Given the description of an element on the screen output the (x, y) to click on. 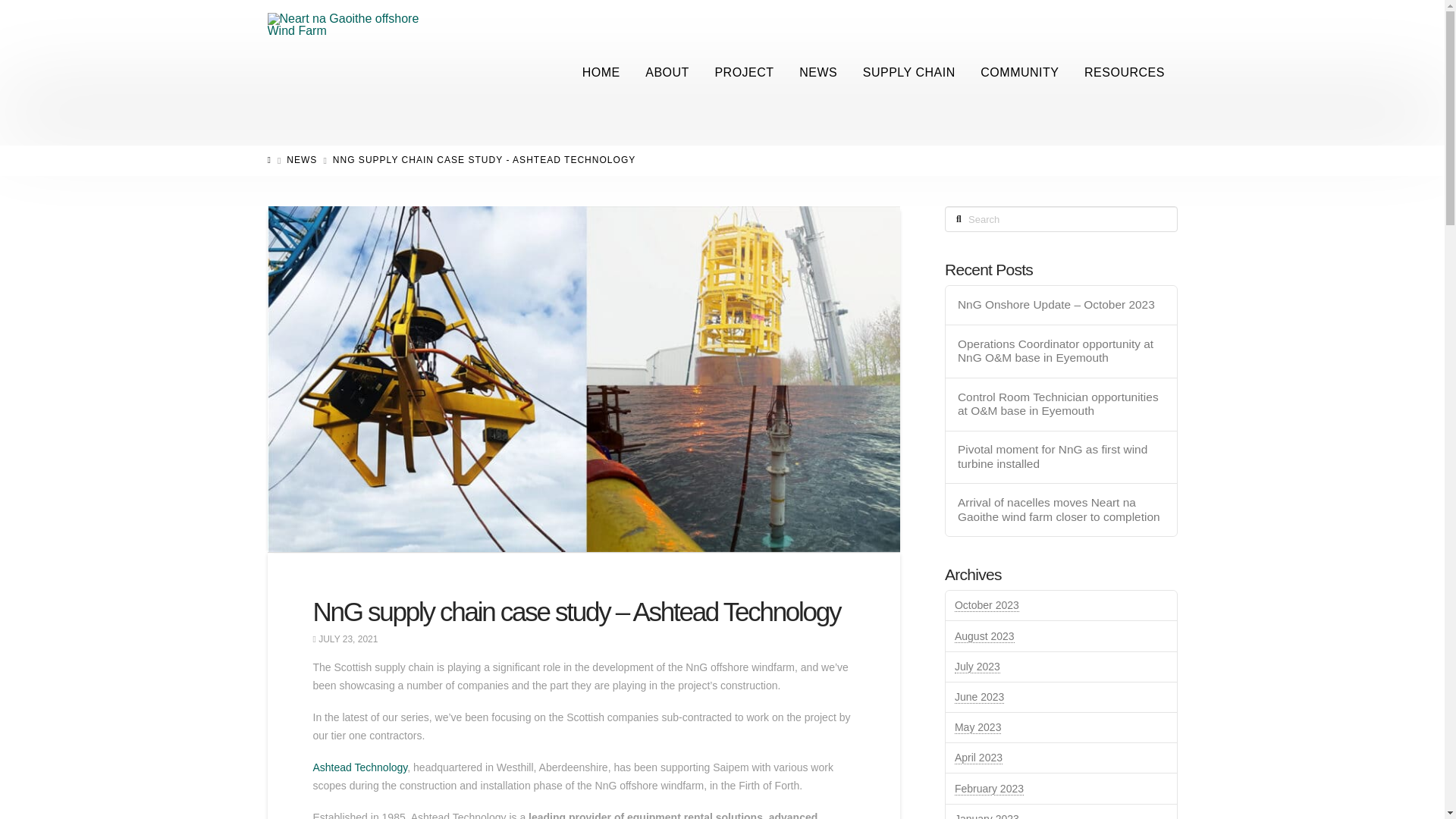
June 2023 (979, 697)
Pivotal moment for NnG as first wind turbine installed (1061, 456)
Ashtead Technology (360, 767)
October 2023 (987, 604)
NNG SUPPLY CHAIN CASE STUDY - ASHTEAD TECHNOLOGY (484, 160)
You Are Here (484, 160)
NEWS (301, 160)
January 2023 (987, 816)
February 2023 (989, 788)
August 2023 (984, 635)
